Given the description of an element on the screen output the (x, y) to click on. 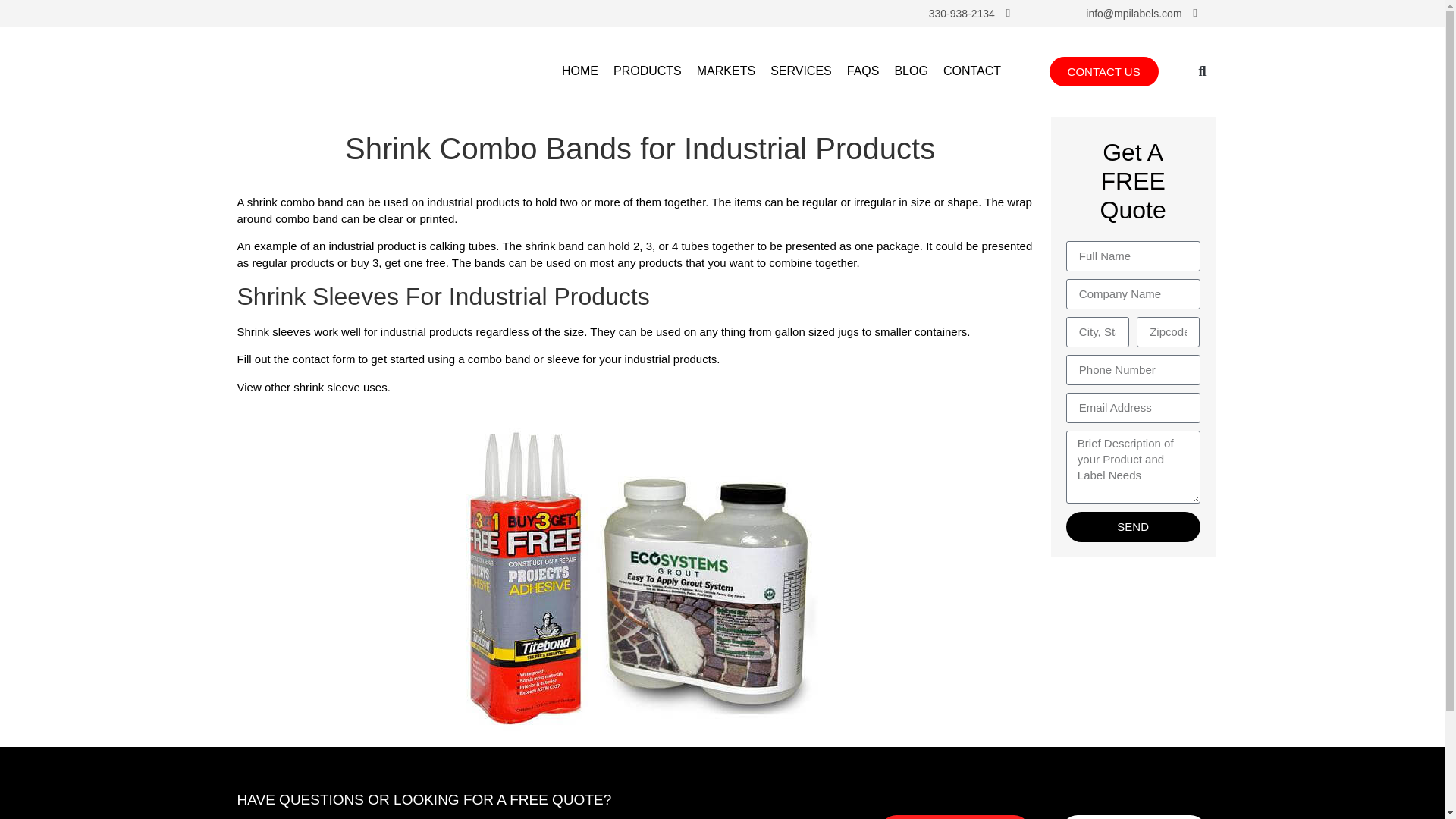
HOME (580, 71)
330-938-2134 (961, 13)
FAQS (863, 71)
PRODUCTS (646, 71)
MARKETS (726, 71)
CONTACT (972, 71)
SERVICES (800, 71)
BLOG (910, 71)
